Given the description of an element on the screen output the (x, y) to click on. 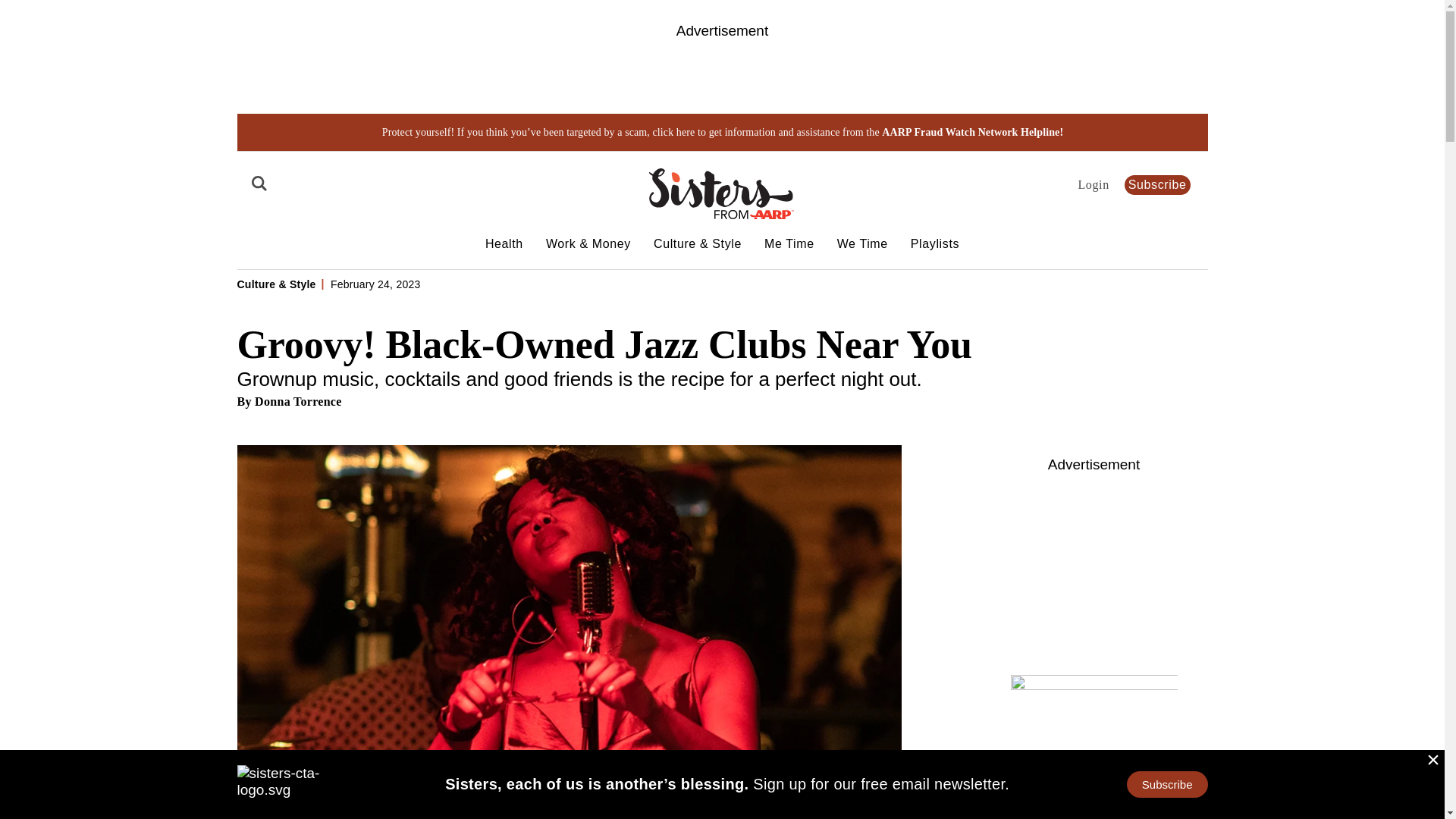
Playlists (935, 243)
We Time (862, 243)
Health (503, 243)
Me Time (788, 243)
Donna Torrence (298, 400)
